Given the description of an element on the screen output the (x, y) to click on. 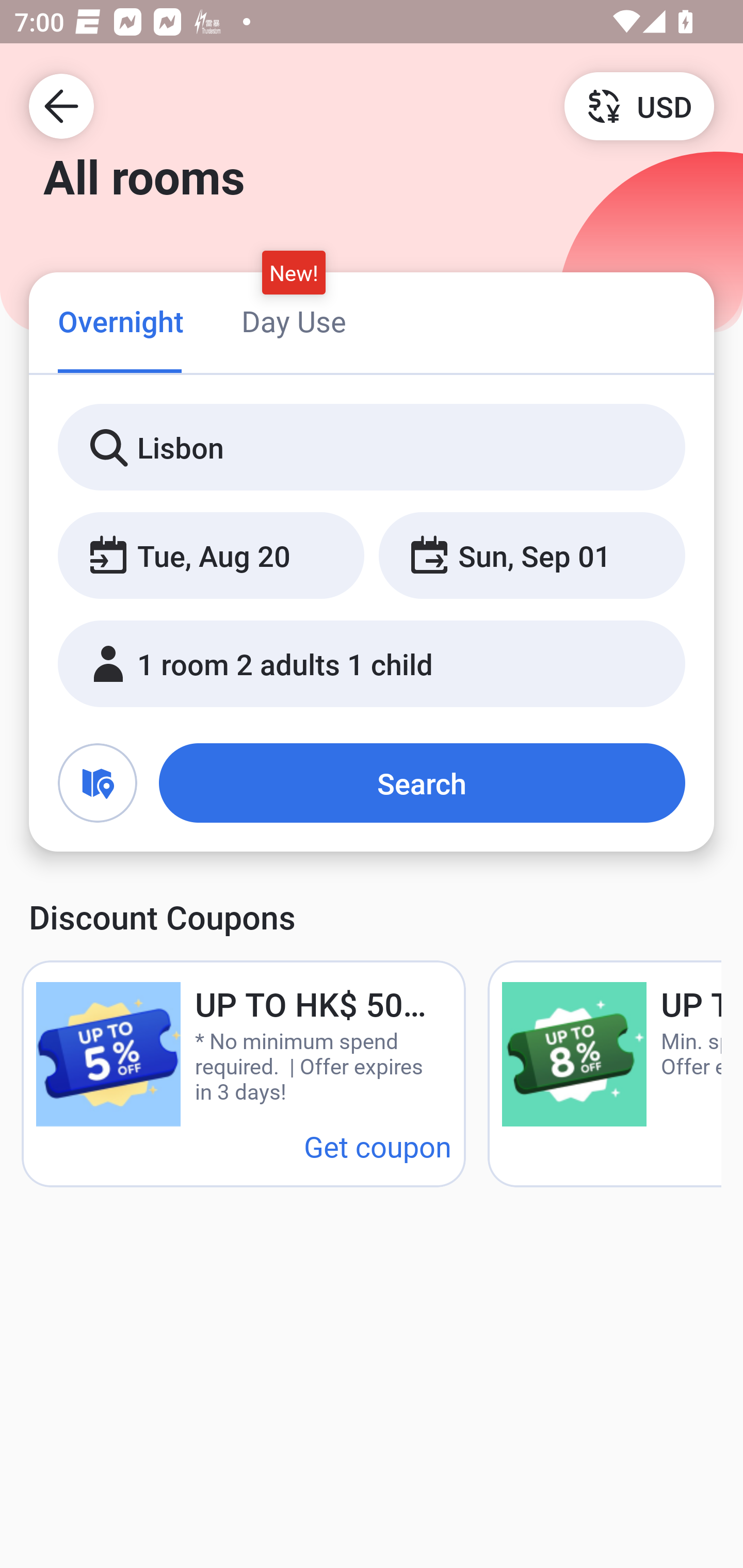
USD (639, 105)
New! (294, 272)
Day Use (293, 321)
Lisbon (371, 447)
Tue, Aug 20 (210, 555)
Sun, Sep 01 (531, 555)
1 room 2 adults 1 child (371, 663)
Search (422, 783)
Get coupon (377, 1146)
